Given the description of an element on the screen output the (x, y) to click on. 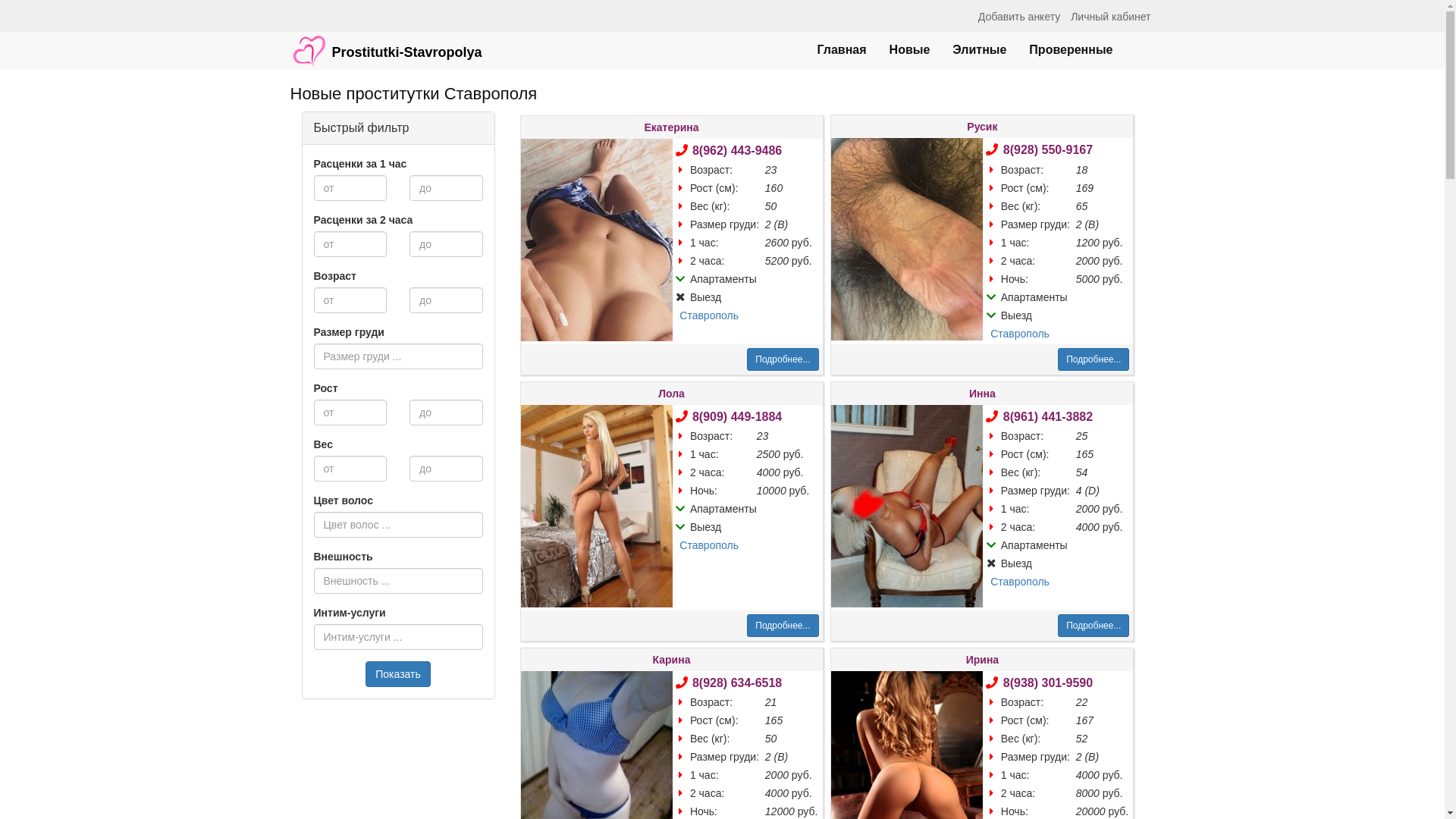
Prostitutki-Stavropolya Element type: text (386, 43)
